Given the description of an element on the screen output the (x, y) to click on. 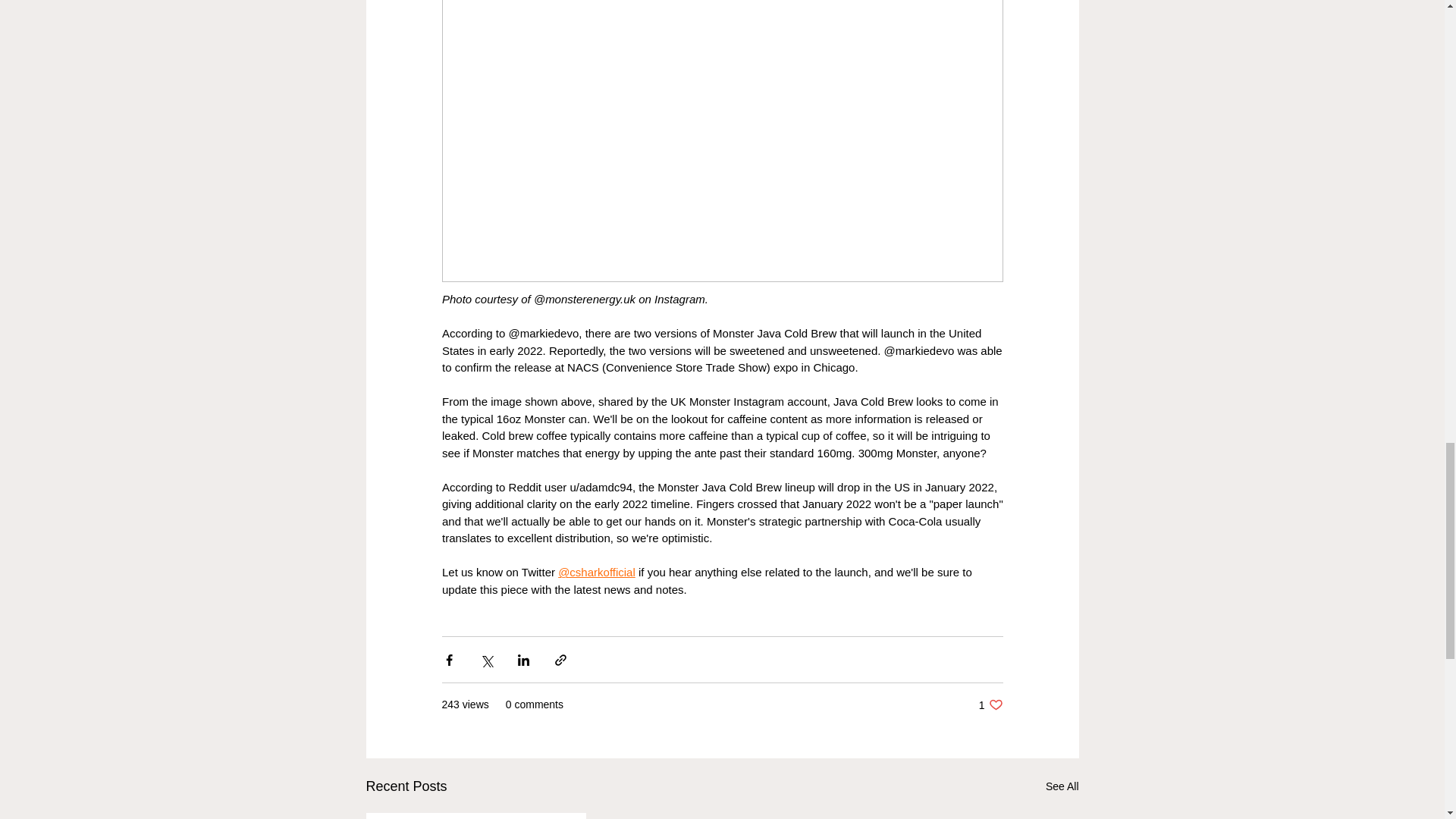
See All (990, 704)
